Given the description of an element on the screen output the (x, y) to click on. 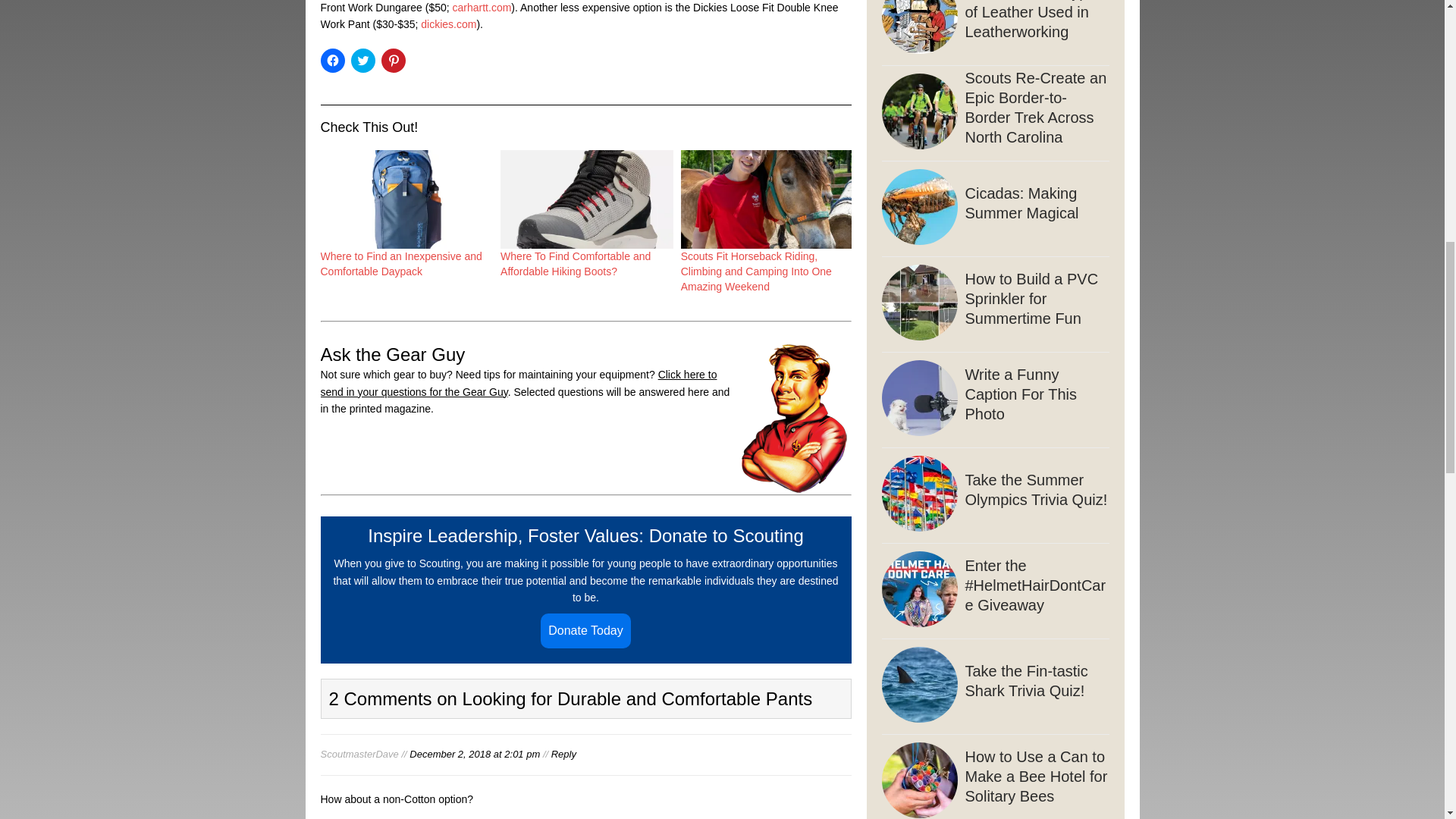
Click to share on Twitter (362, 60)
Write a Funny Caption For This Photo (994, 399)
Where To Find Comfortable and Affordable Hiking Boots? (575, 263)
Click to share on Pinterest (392, 60)
Where to Find an Inexpensive and Comfortable Daypack (406, 198)
How to Build a PVC Sprinkler for Summertime Fun (994, 304)
Where To Find Comfortable and Affordable Hiking Boots? (586, 198)
Click to share on Facebook (331, 60)
Cicadas: Making Summer Magical (994, 209)
Take the Summer Olympics Trivia Quiz! (994, 495)
Where to Find an Inexpensive and Comfortable Daypack (400, 263)
Learn About 5 Types of Leather Used in Leatherworking (994, 33)
